Given the description of an element on the screen output the (x, y) to click on. 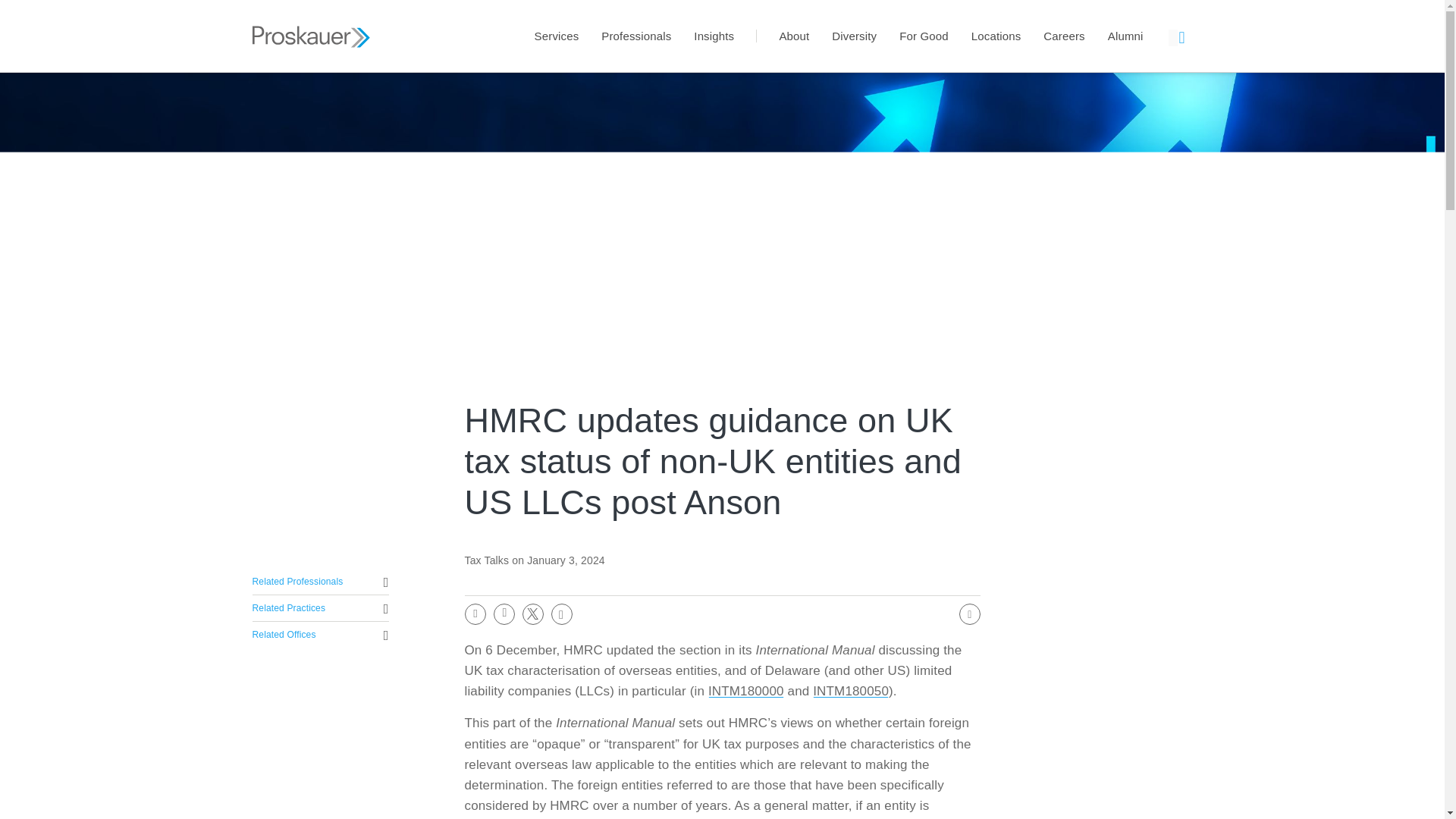
Proskauer (310, 7)
Services (556, 35)
